Given the description of an element on the screen output the (x, y) to click on. 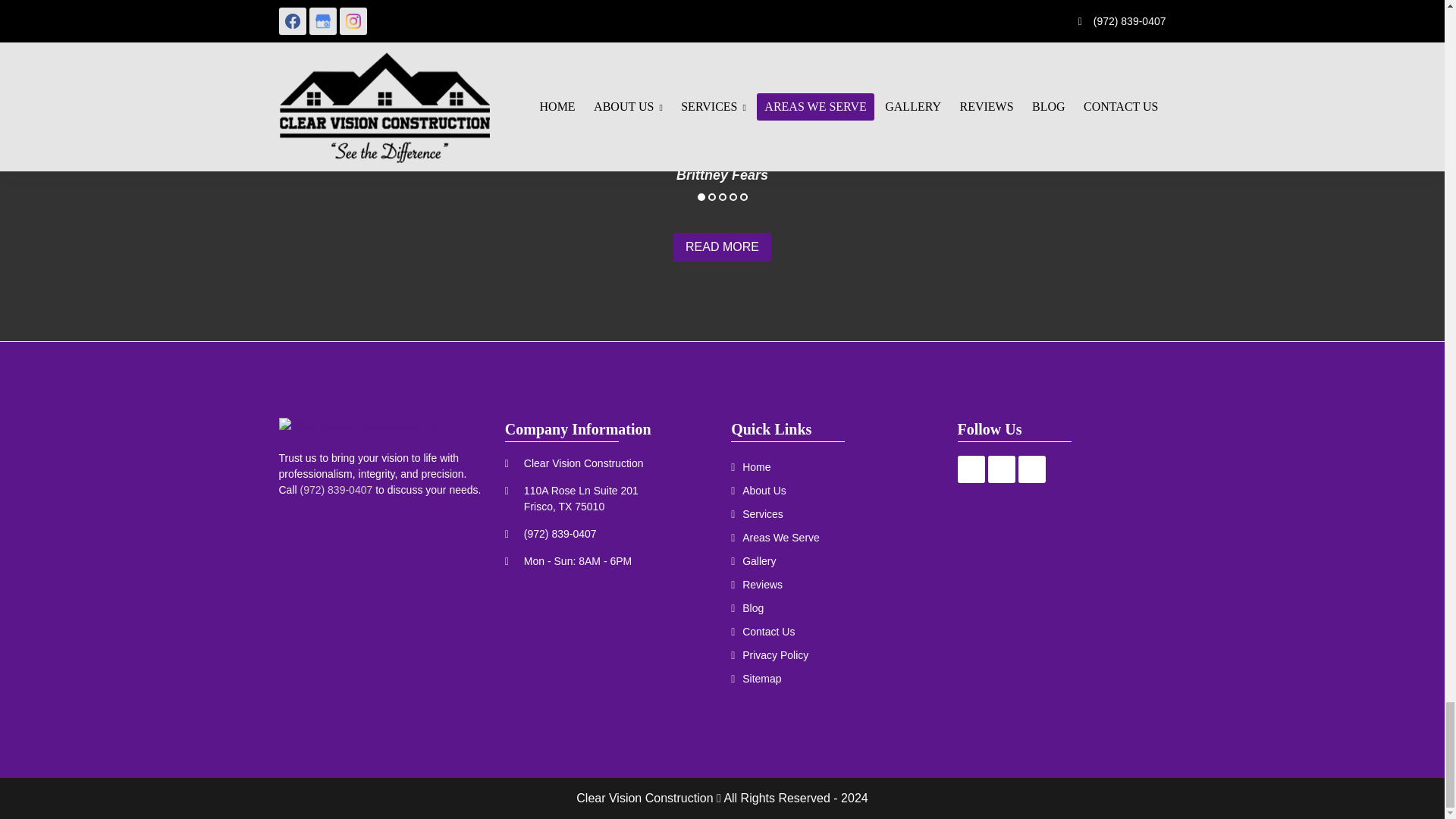
2 (711, 196)
Facebook (971, 469)
Instagram (1031, 469)
1 (700, 196)
Clear Vision Construction (359, 425)
Google Business Profile (1001, 469)
